Given the description of an element on the screen output the (x, y) to click on. 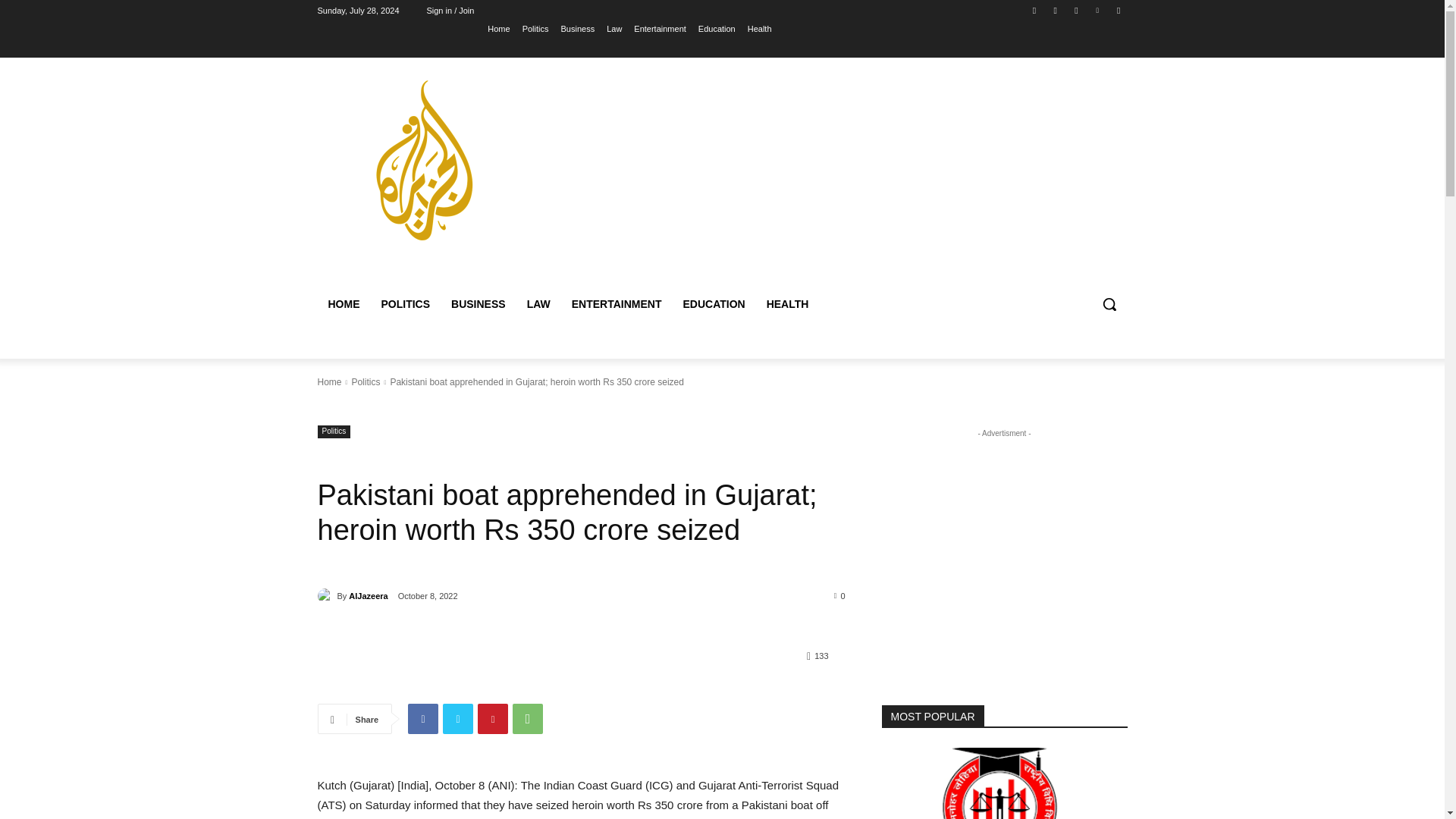
POLITICS (405, 303)
Home (498, 28)
BUSINESS (478, 303)
Instagram (1055, 9)
Twitter (457, 718)
View all posts in Politics (365, 381)
Business (577, 28)
WhatsApp (527, 718)
LAW (538, 303)
Law (614, 28)
EDUCATION (713, 303)
Politics (333, 431)
Health (759, 28)
Vimeo (1097, 9)
Home (328, 381)
